Given the description of an element on the screen output the (x, y) to click on. 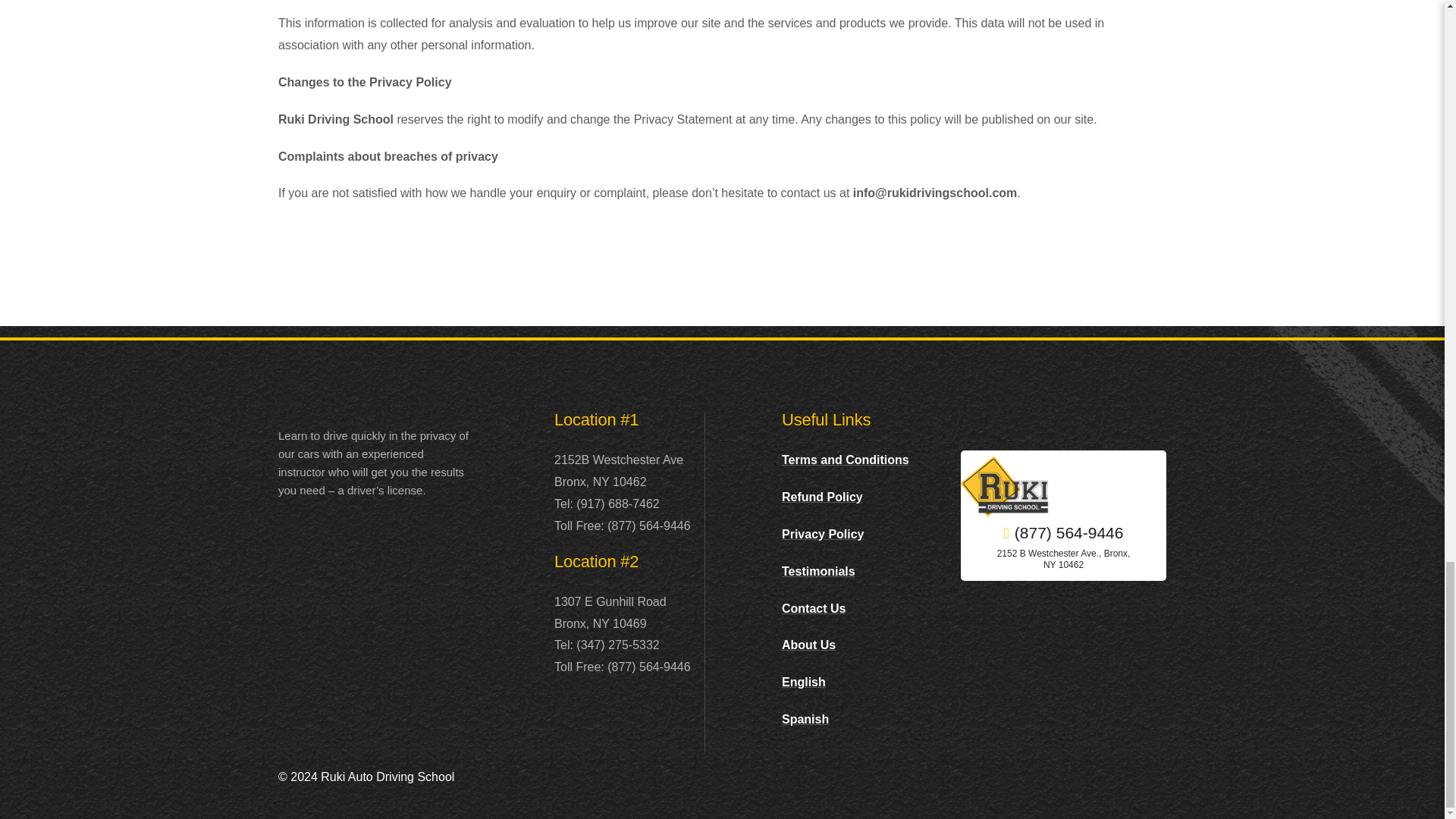
Contact Us (813, 608)
English (803, 681)
Terms and Conditions (844, 459)
Spanish (804, 718)
Testimonials (818, 571)
Privacy Policy (822, 533)
Refund Policy (822, 496)
About Us (808, 644)
